Given the description of an element on the screen output the (x, y) to click on. 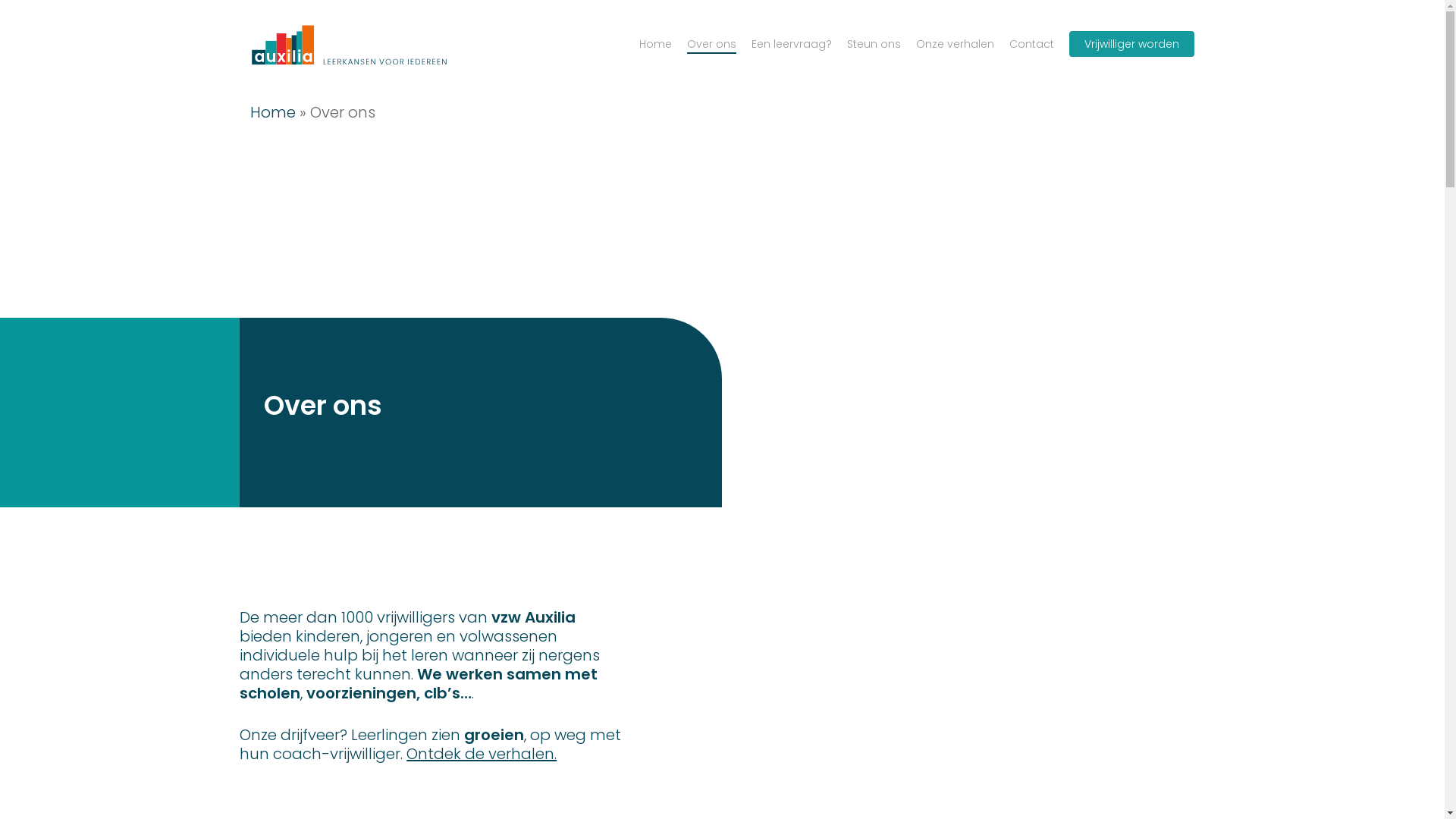
Onze verhalen Element type: text (955, 43)
Home Element type: text (655, 43)
Een leervraag? Element type: text (791, 43)
Contact Element type: text (1031, 43)
Ontdek de verhalen. Element type: text (481, 753)
Over ons Element type: text (711, 43)
Steun ons Element type: text (873, 43)
Home Element type: text (272, 111)
Vrijwilliger worden Element type: text (1131, 43)
